Given the description of an element on the screen output the (x, y) to click on. 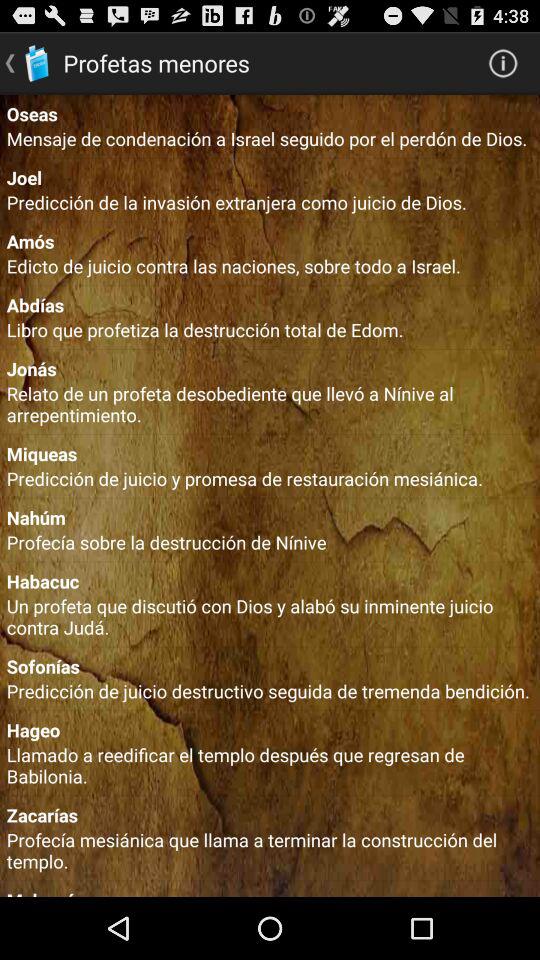
swipe until edicto de juicio (269, 265)
